Given the description of an element on the screen output the (x, y) to click on. 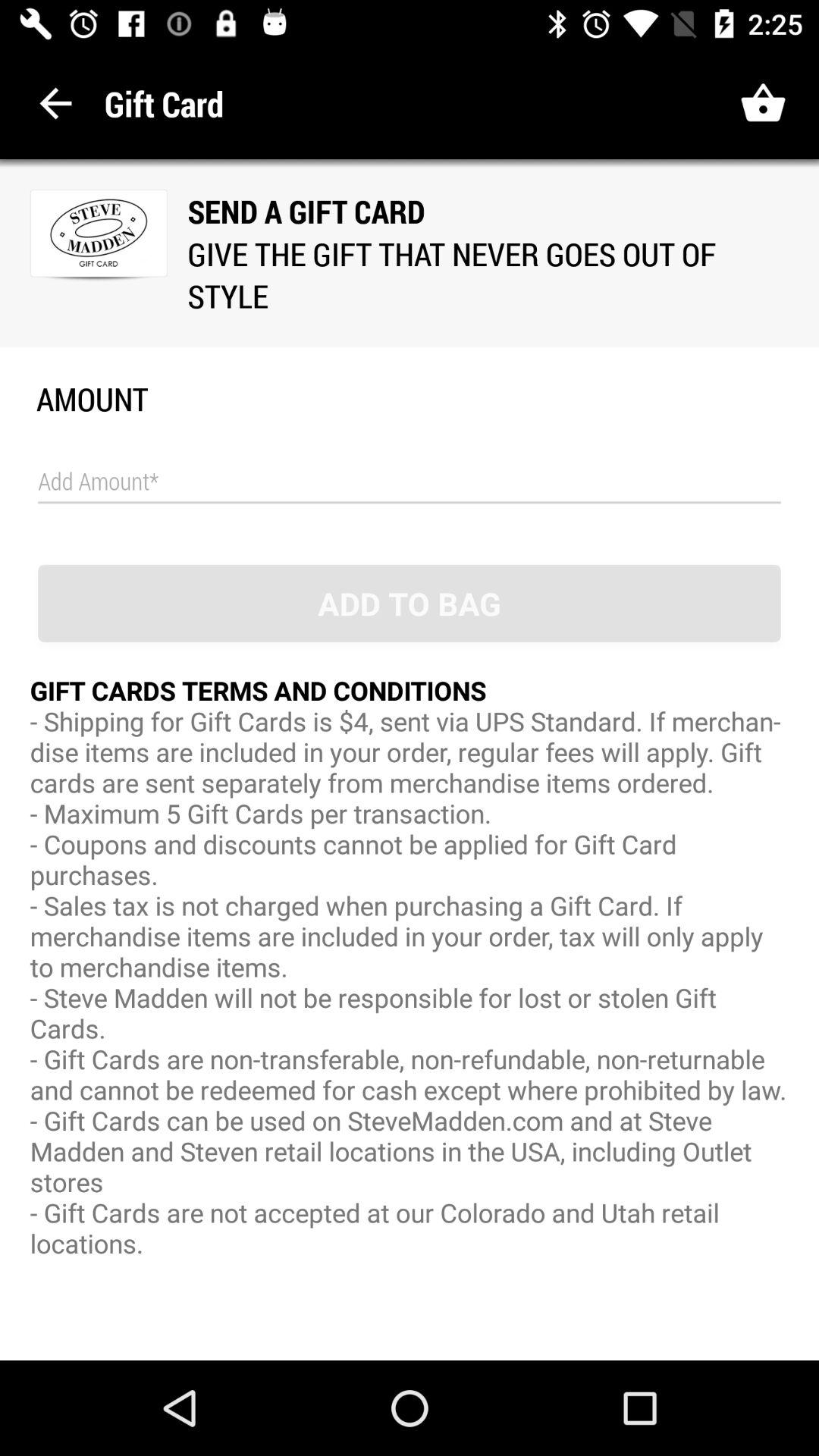
add amount (409, 482)
